Given the description of an element on the screen output the (x, y) to click on. 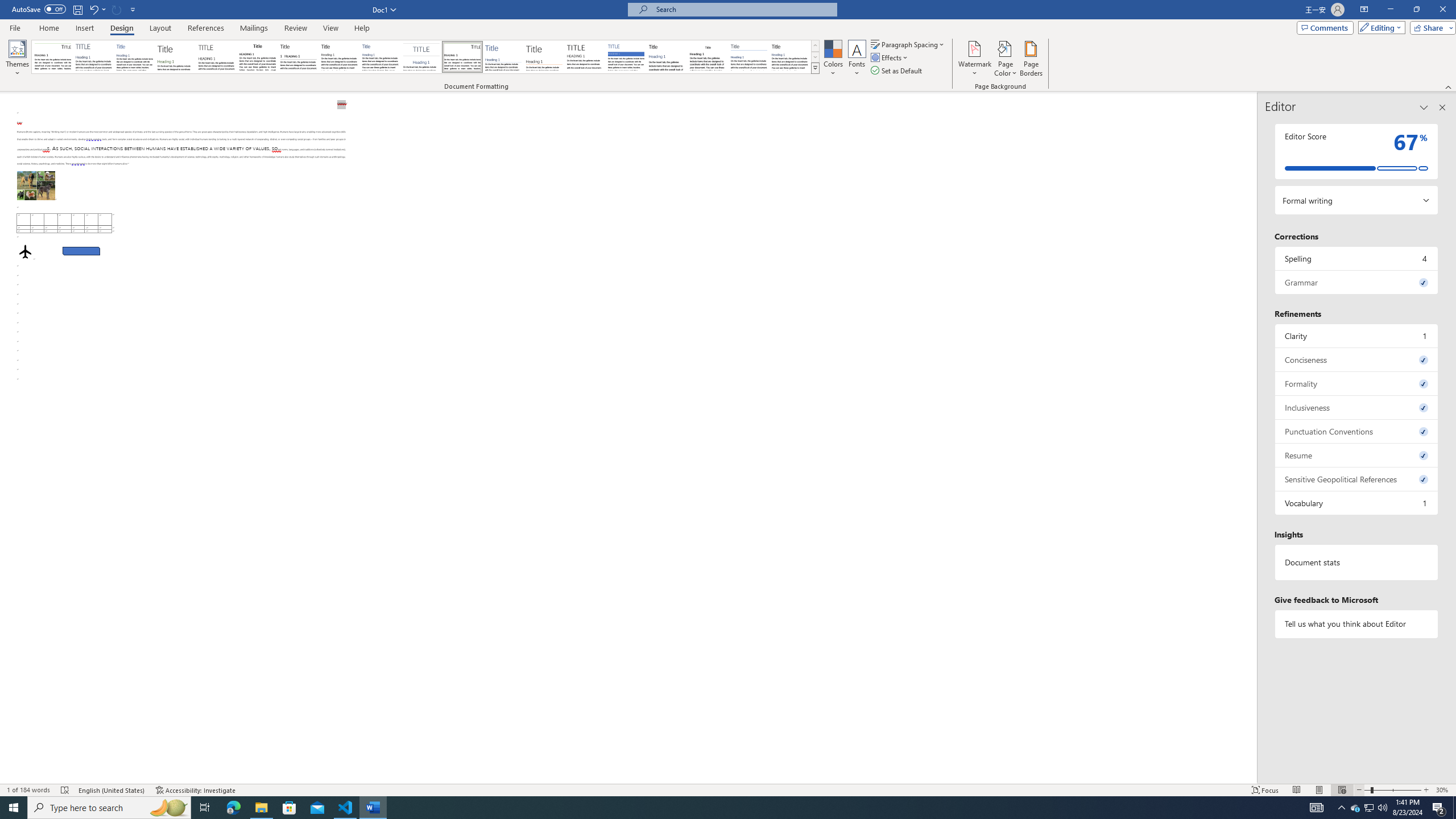
System (6, 6)
Editor Score 67% (1356, 151)
Quick Access Toolbar (74, 9)
Focus  (1265, 790)
File Tab (15, 27)
Conciseness, 0 issues. Press space or enter to review items. (1356, 359)
Word 2010 (749, 56)
Close pane (1441, 107)
Microsoft search (742, 9)
More Options (103, 9)
